Given the description of an element on the screen output the (x, y) to click on. 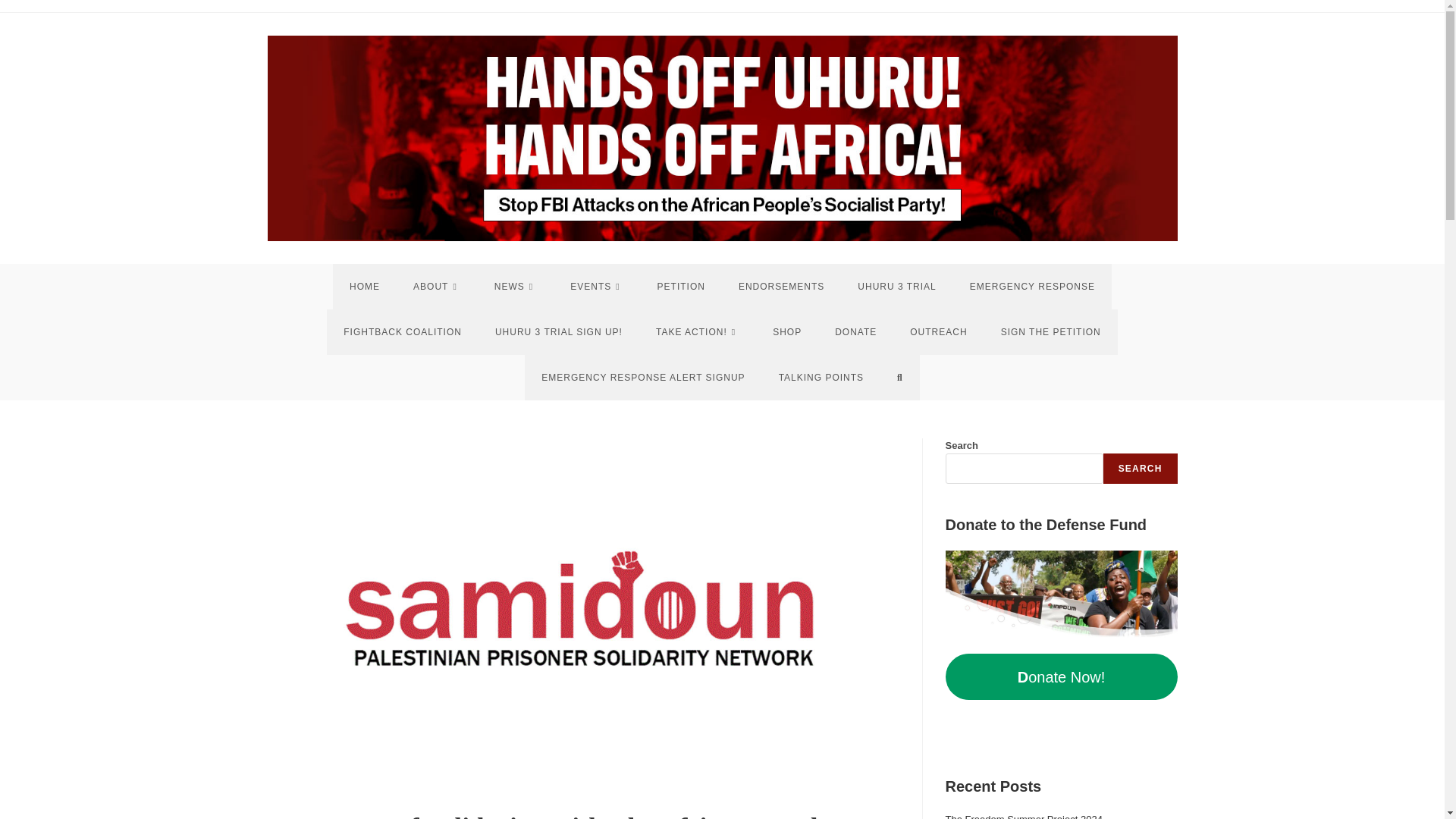
PETITION (681, 286)
EMERGENCY RESPONSE (1032, 286)
UHURU 3 TRIAL SIGN UP! (559, 331)
ENDORSEMENTS (781, 286)
NEWS (515, 286)
FIGHTBACK COALITION (402, 331)
UHURU 3 TRIAL (896, 286)
ABOUT (436, 286)
DONATE (855, 331)
SHOP (786, 331)
EVENTS (596, 286)
TAKE ACTION! (697, 331)
HOME (364, 286)
